Given the description of an element on the screen output the (x, y) to click on. 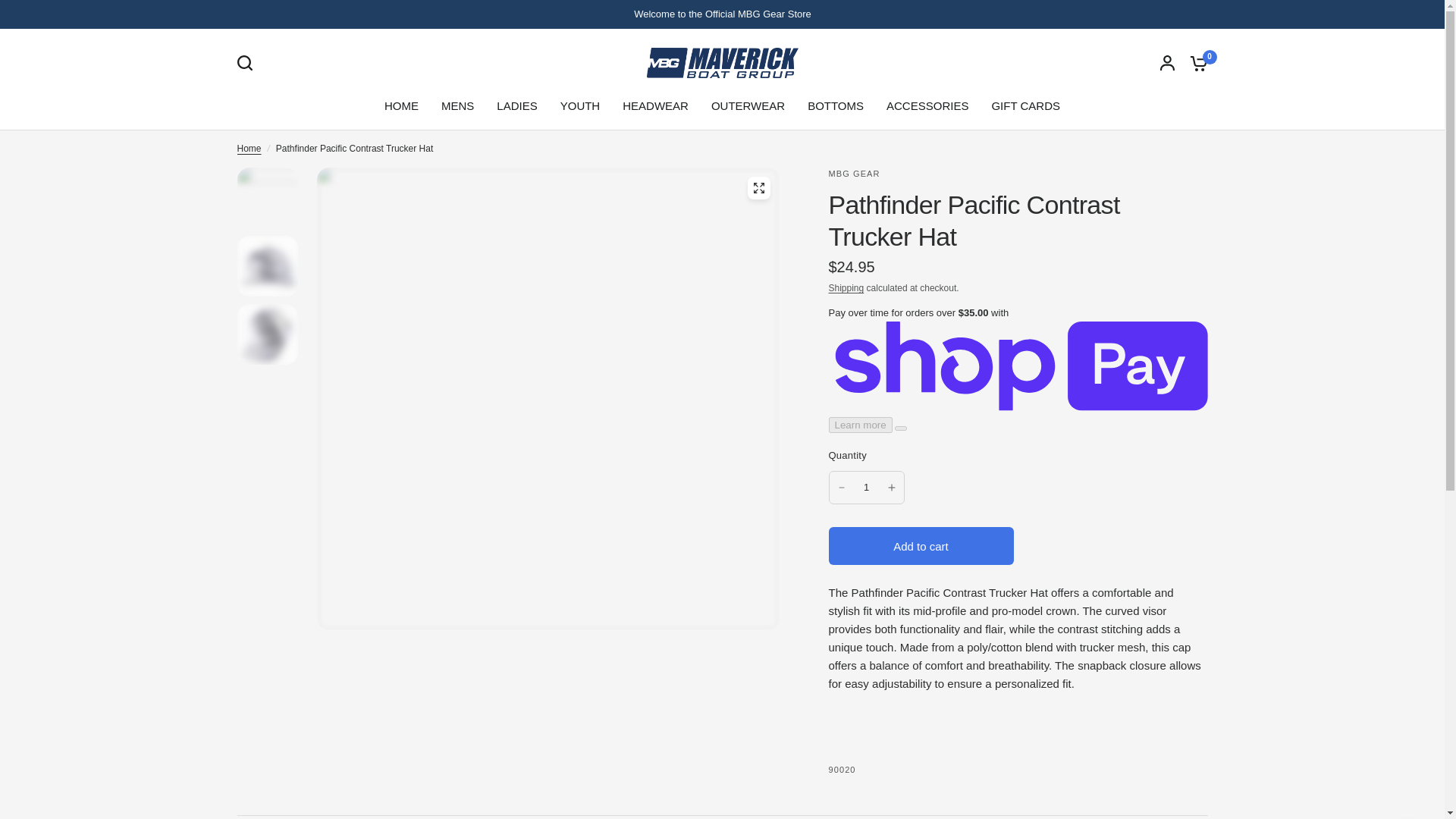
HOME (401, 106)
YOUTH (579, 106)
Outerwear (747, 106)
HEADWEAR (655, 106)
MENS (457, 106)
ACCESSORIES (927, 106)
Mens (457, 106)
Home (401, 106)
Ladies (516, 106)
Add to cart (920, 546)
